Given the description of an element on the screen output the (x, y) to click on. 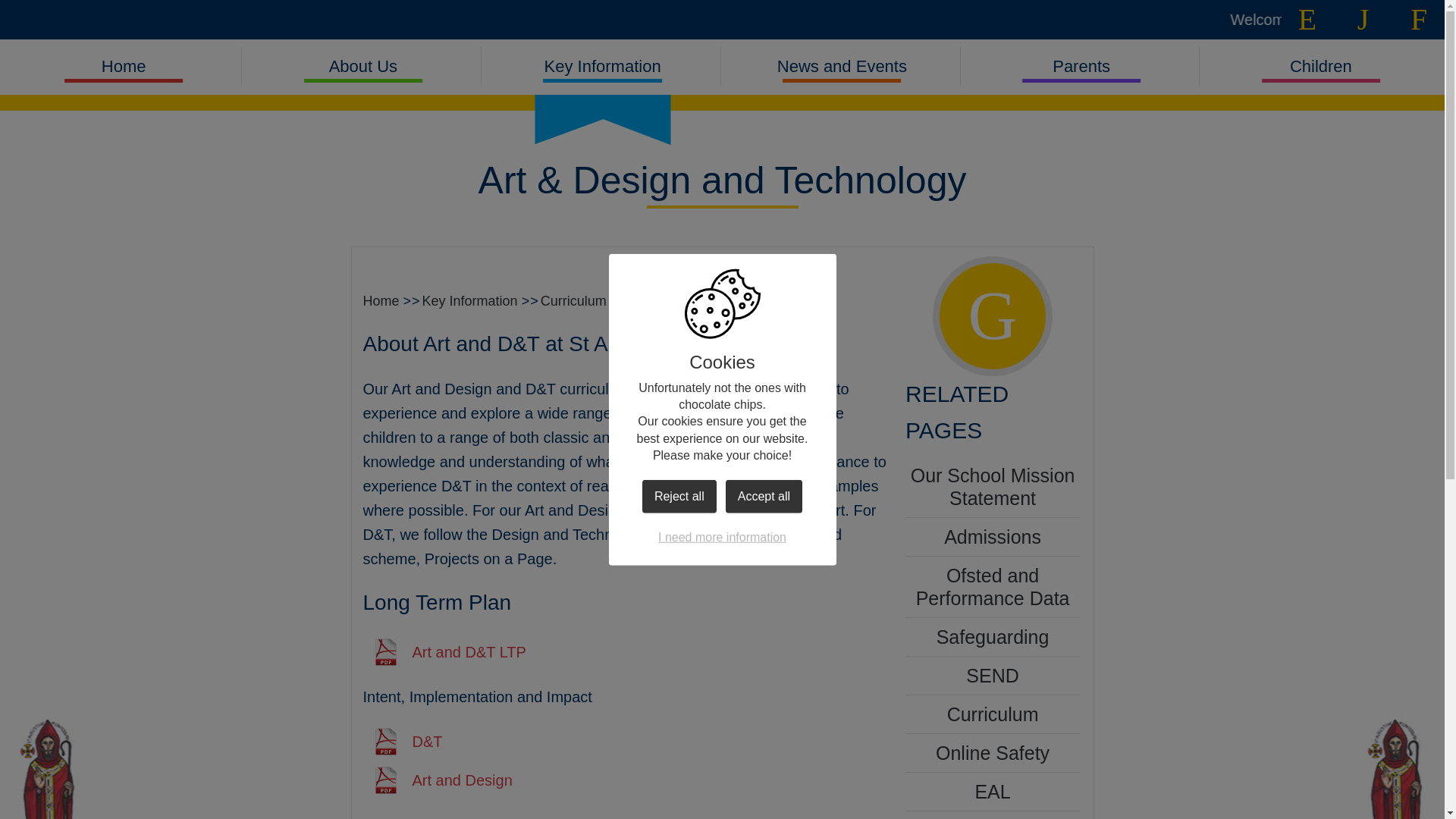
Key Information (601, 67)
About Us (362, 67)
Home (123, 67)
